Given the description of an element on the screen output the (x, y) to click on. 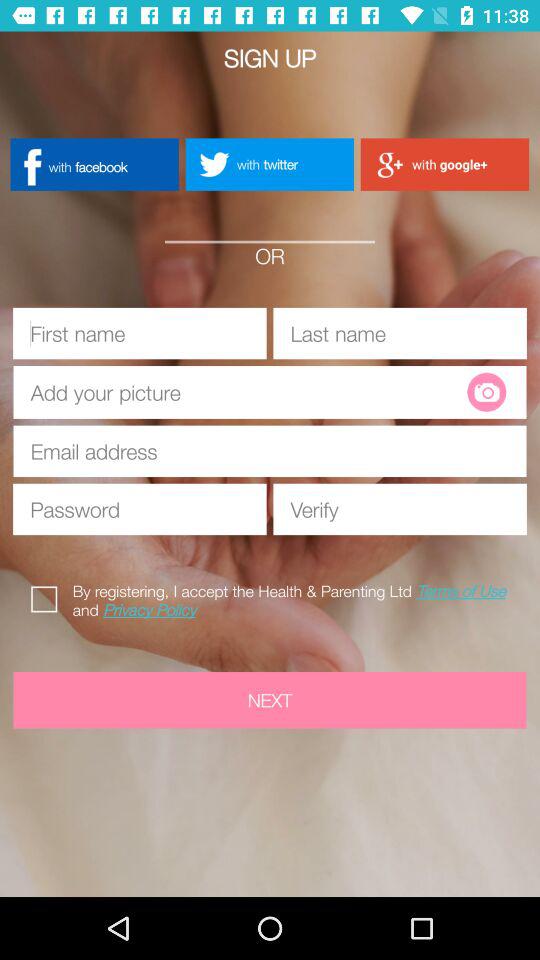
choose app below the sign up app (444, 164)
